Given the description of an element on the screen output the (x, y) to click on. 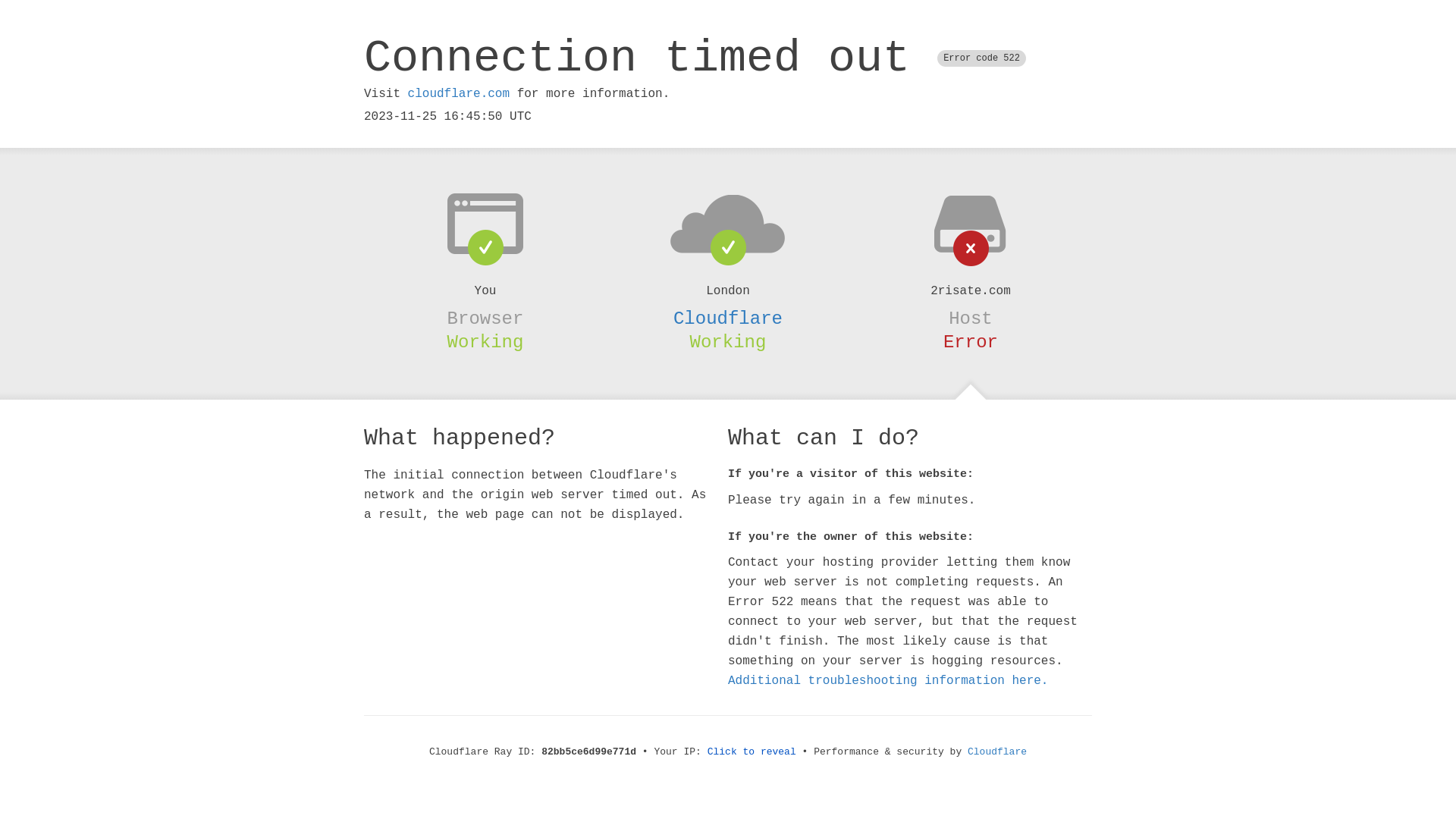
Additional troubleshooting information here. Element type: text (888, 680)
Cloudflare Element type: text (996, 751)
Click to reveal Element type: text (751, 751)
Cloudflare Element type: text (727, 318)
cloudflare.com Element type: text (458, 93)
